Given the description of an element on the screen output the (x, y) to click on. 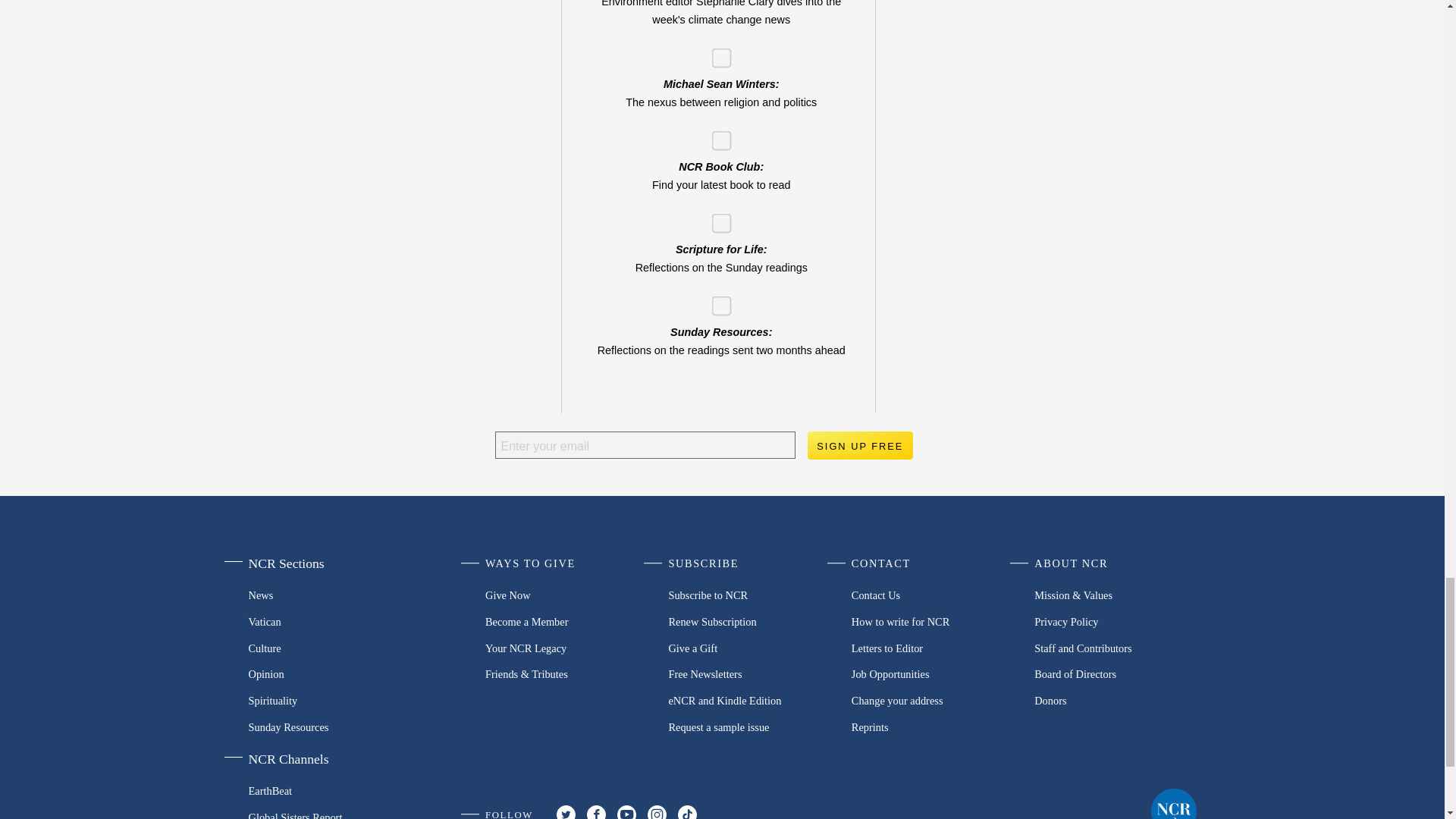
Request a sample issue of NCR (748, 726)
Request a reprint of NCR content (932, 726)
Donors (1114, 700)
How to write for NCR (932, 622)
Change your address (932, 700)
c25324053e (715, 218)
3b77a4581e (715, 53)
dfa4c56aff (715, 301)
13ede0f40e (715, 135)
Sign up free (859, 445)
